Given the description of an element on the screen output the (x, y) to click on. 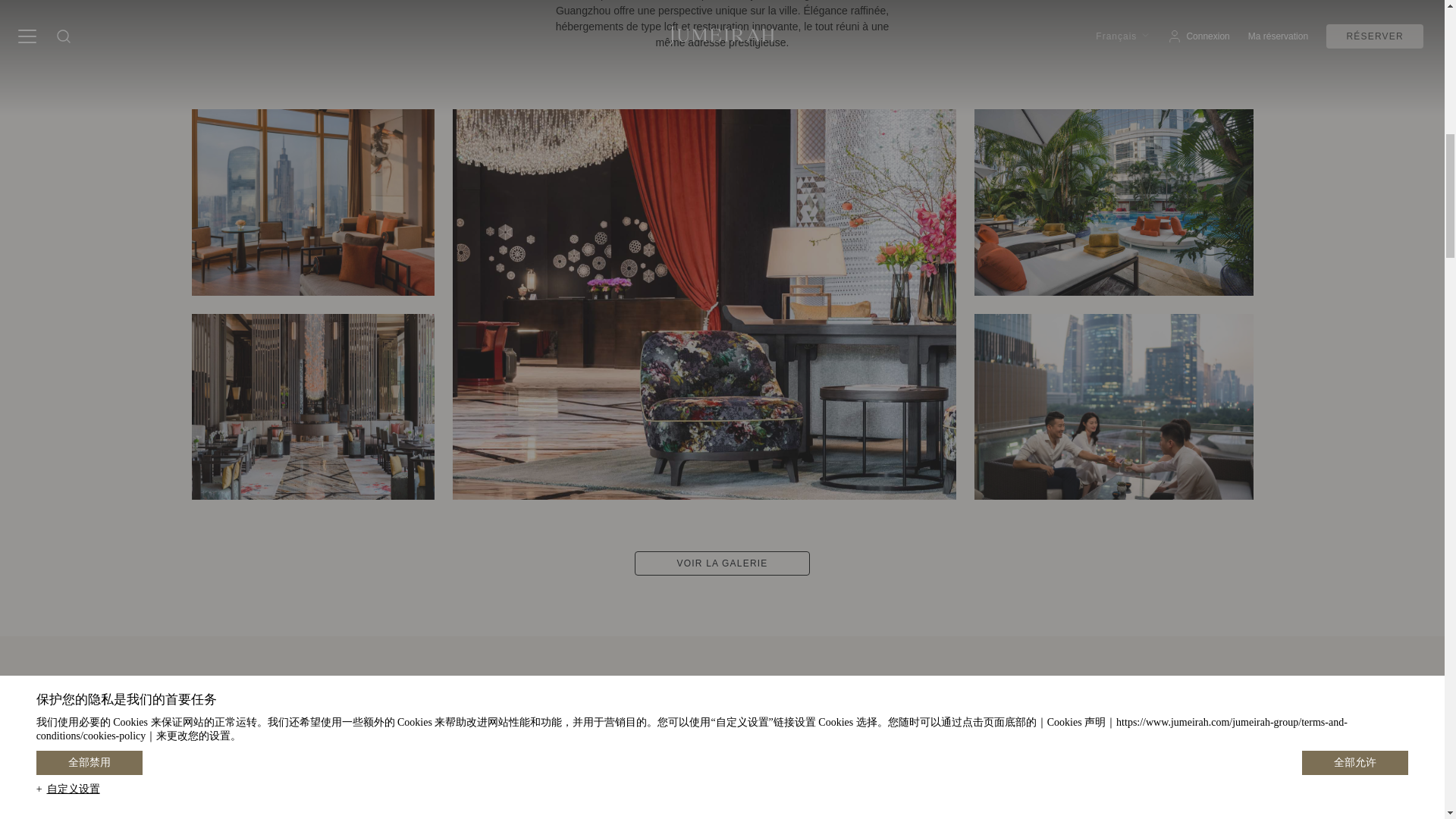
VOIR LA GALERIE (721, 563)
